Given the description of an element on the screen output the (x, y) to click on. 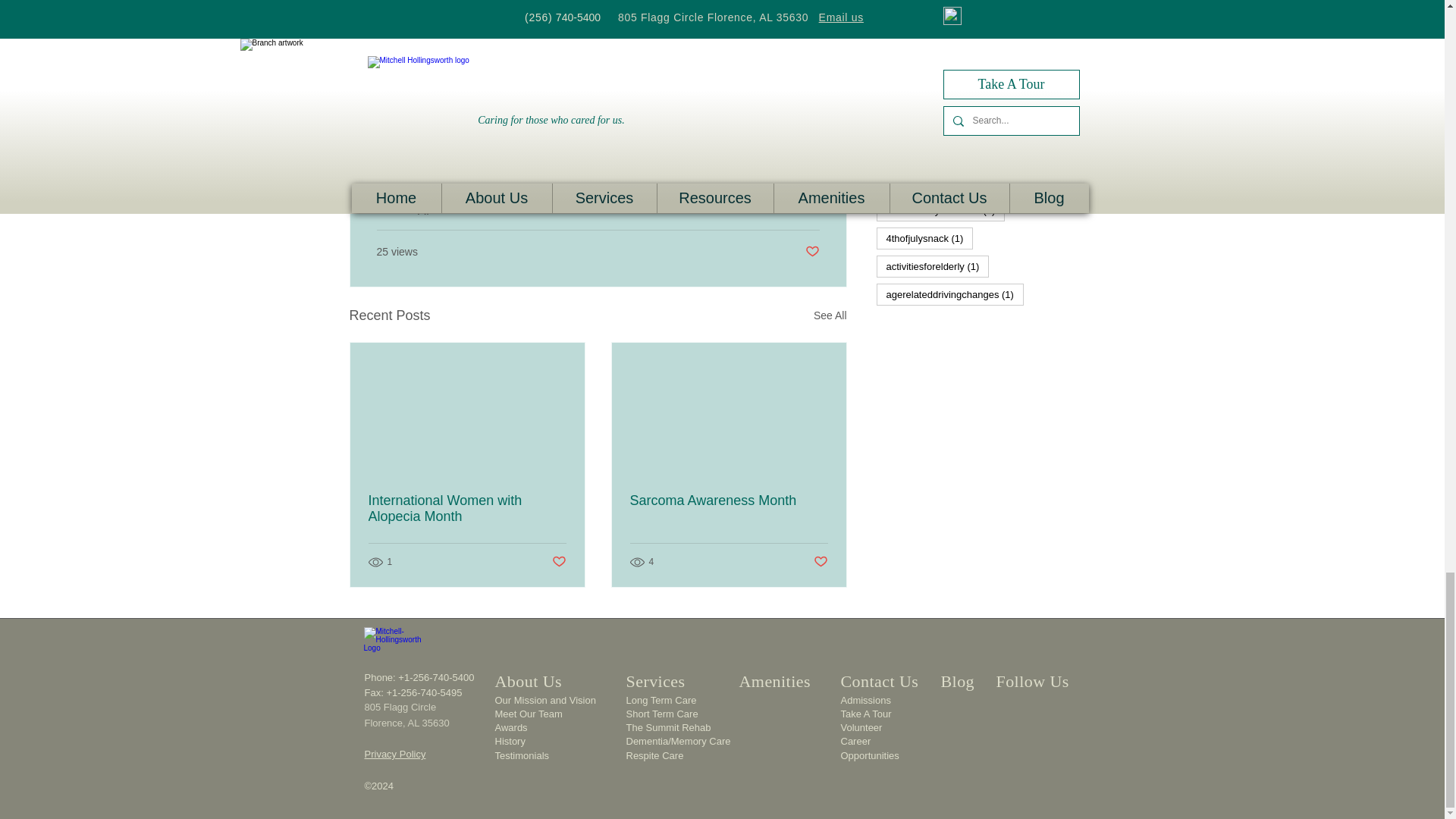
See All (830, 315)
Post not marked as liked (812, 252)
managingpainwithaging (440, 149)
International Women with Alopecia Month (467, 508)
Mitchell-Hollingsworth Logo (394, 646)
